Given the description of an element on the screen output the (x, y) to click on. 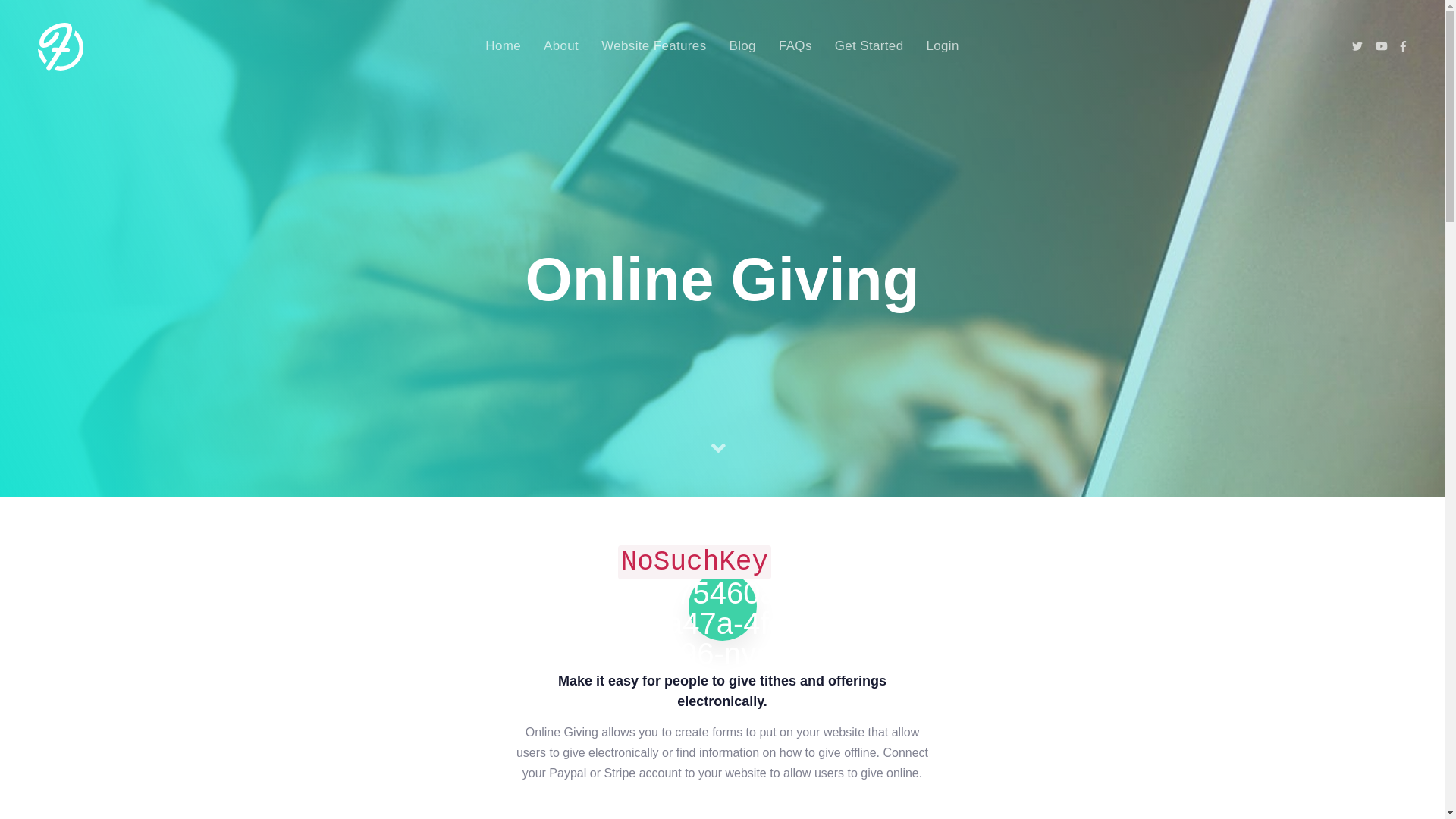
Get Started (869, 46)
Website Features (653, 46)
